Given the description of an element on the screen output the (x, y) to click on. 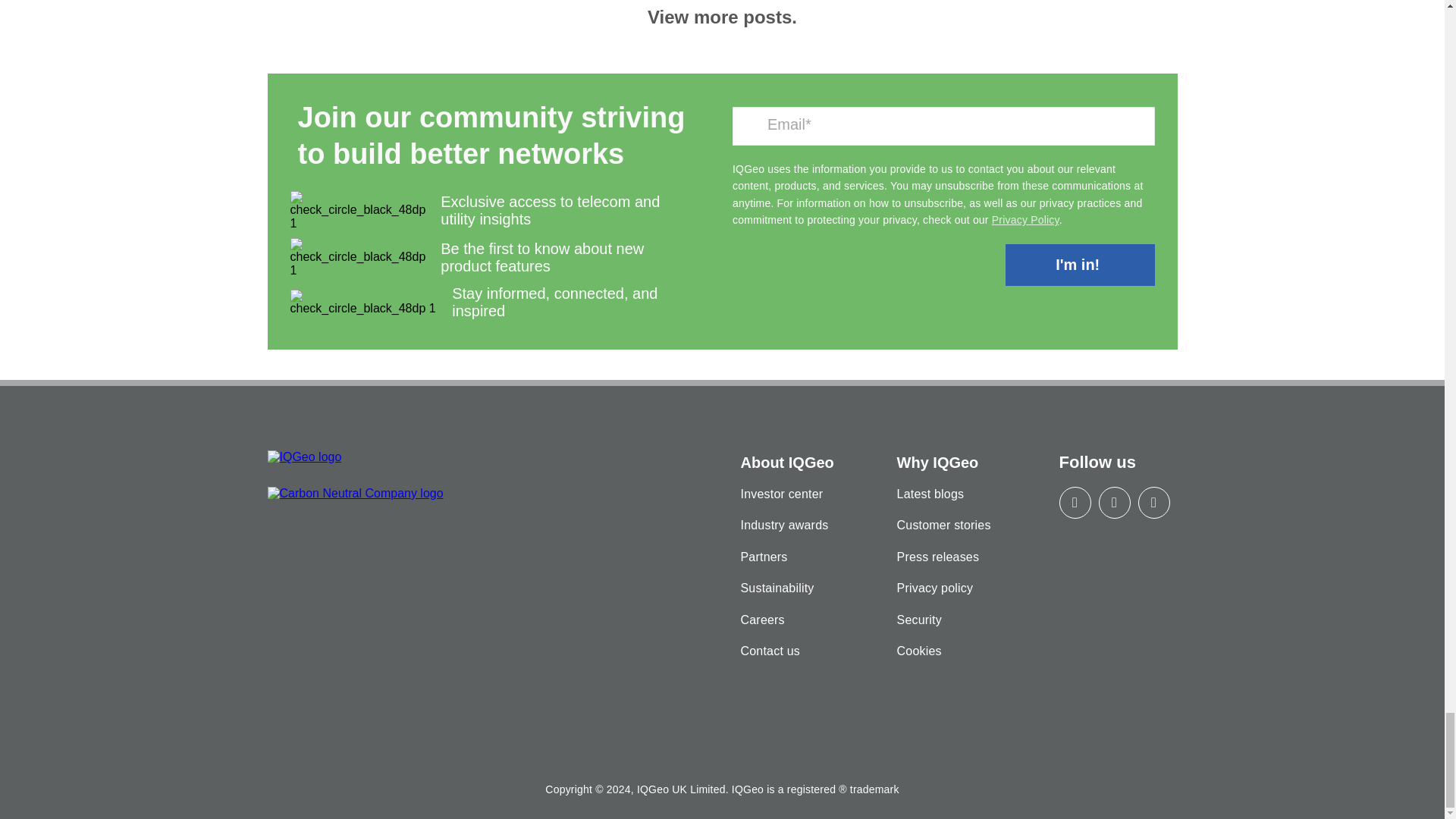
I'm in!  (1080, 264)
